Given the description of an element on the screen output the (x, y) to click on. 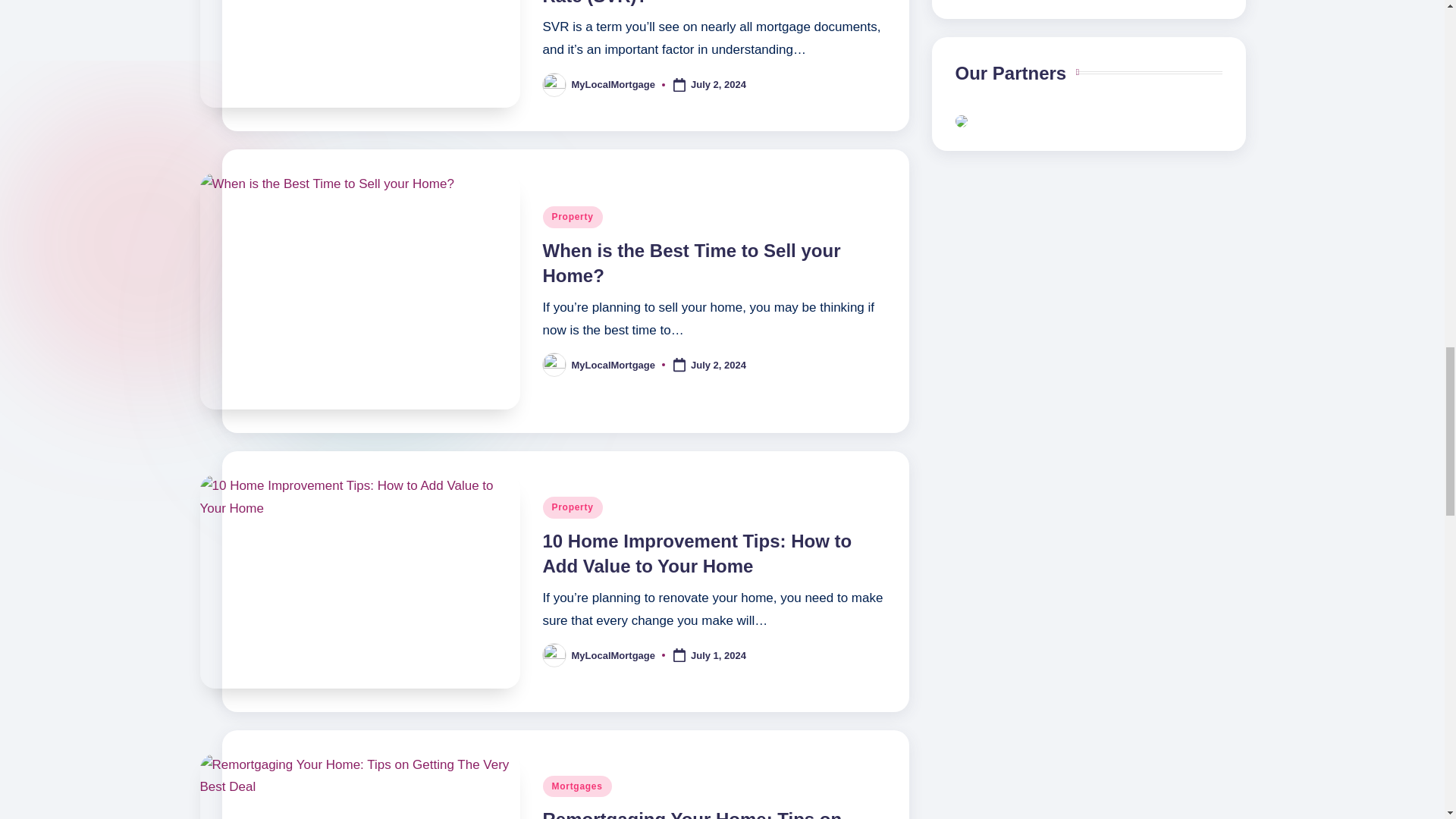
View all posts by MyLocalMortgage (614, 655)
10 Home Improvement Tips: How to Add Value to Your Home (697, 553)
View all posts by MyLocalMortgage (614, 84)
When is the Best Time to Sell your Home? (692, 263)
View all posts by MyLocalMortgage (614, 365)
